Given the description of an element on the screen output the (x, y) to click on. 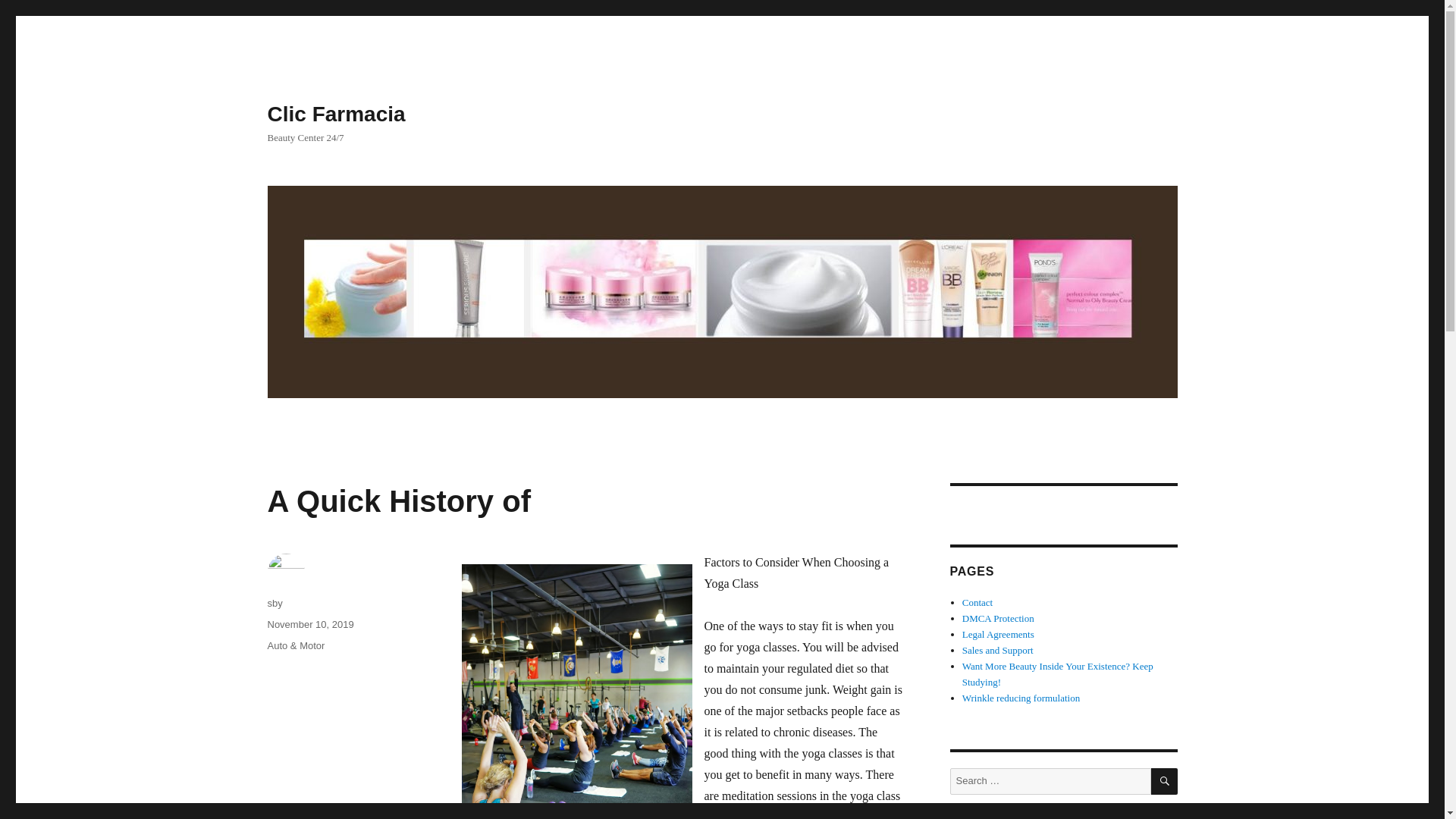
DMCA Protection (997, 618)
Want More Beauty Inside Your Existence? Keep Studying! (1057, 673)
Wrinkle reducing formulation (1021, 697)
November 10, 2019 (309, 624)
Sales and Support (997, 650)
SEARCH (1164, 781)
sby (274, 603)
Clic Farmacia (335, 114)
Contact (977, 602)
Legal Agreements (997, 633)
